Given the description of an element on the screen output the (x, y) to click on. 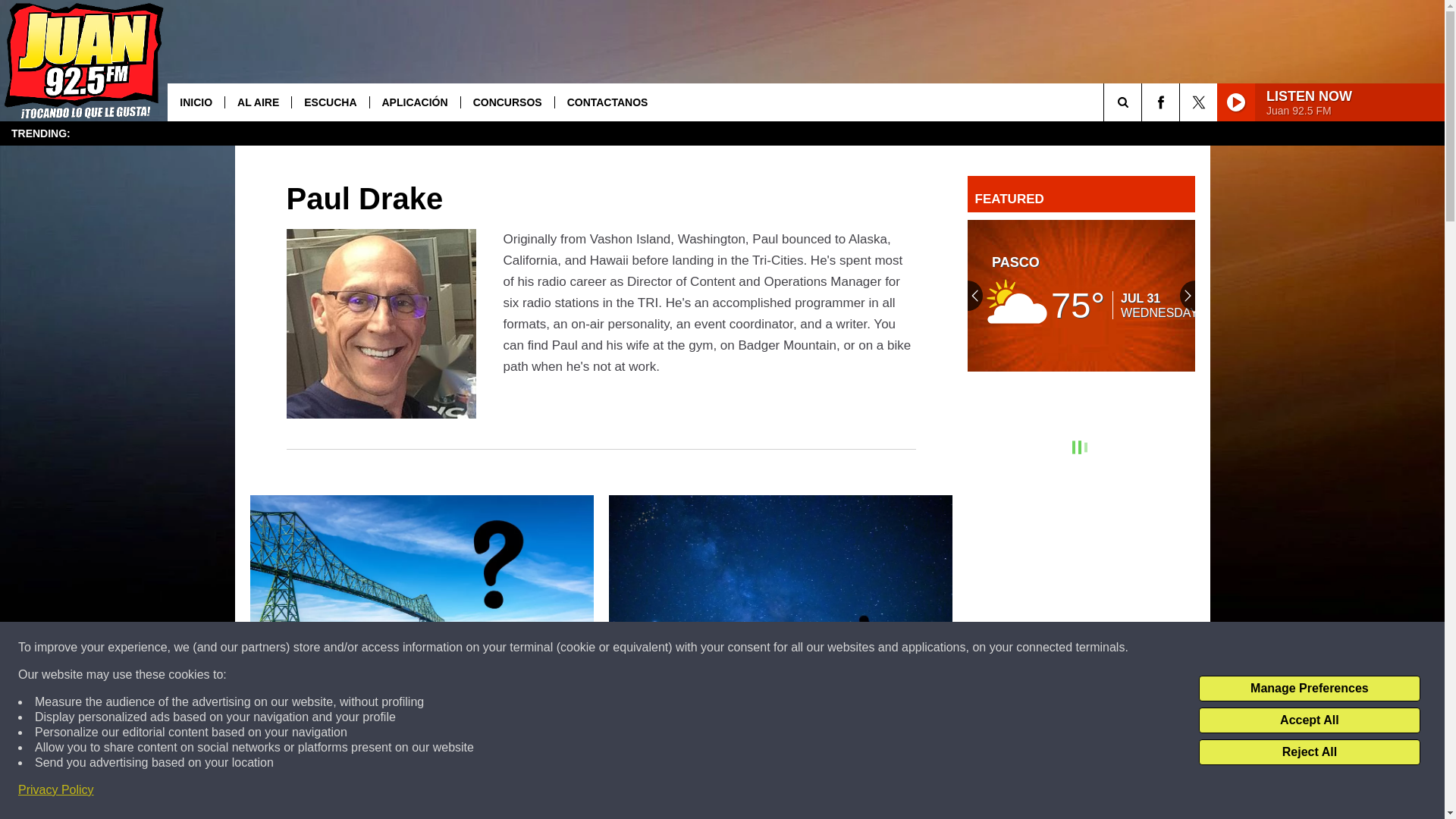
SEARCH (1144, 102)
SEARCH (1144, 102)
INICIO (195, 102)
Privacy Policy (55, 789)
AL AIRE (257, 102)
CONTACTANOS (607, 102)
Accept All (1309, 720)
Reject All (1309, 751)
CONCURSOS (507, 102)
ESCUCHA (329, 102)
Manage Preferences (1309, 688)
Pasco Weather (1081, 295)
